Given the description of an element on the screen output the (x, y) to click on. 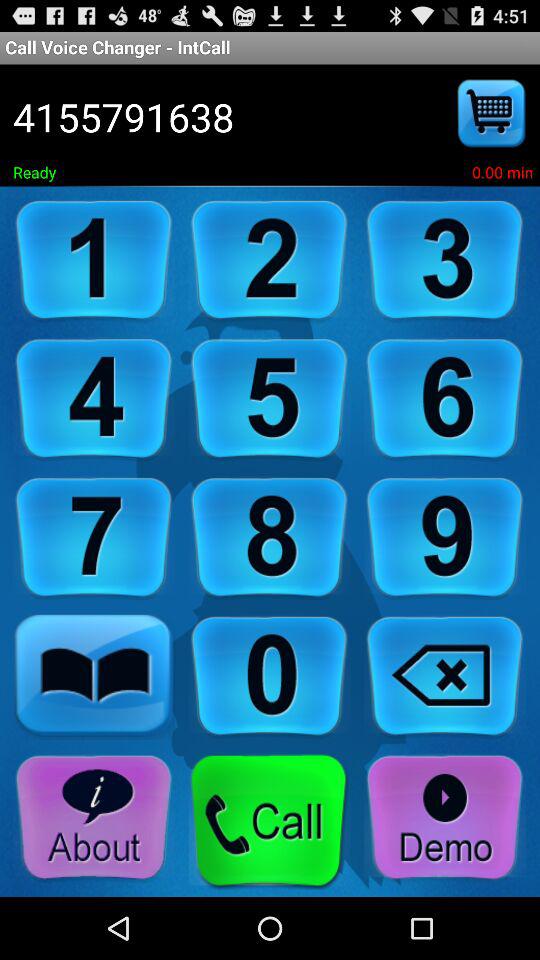
hit the call button (269, 821)
